Given the description of an element on the screen output the (x, y) to click on. 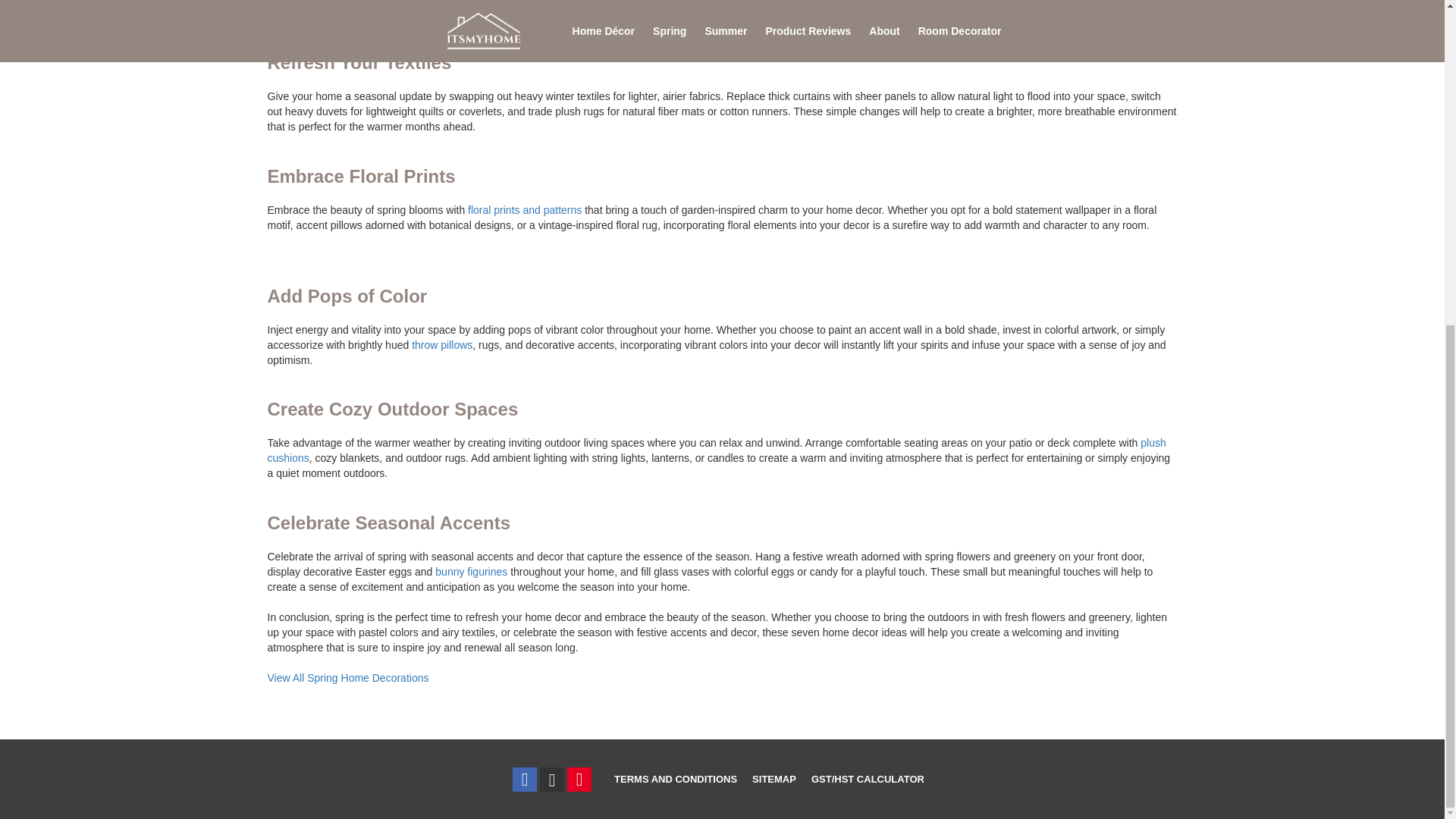
throw pillow covers (906, 2)
SITEMAP (773, 778)
TERMS AND CONDITIONS (675, 778)
bunny figurines (470, 571)
plush cushion (716, 450)
throw pillows (906, 2)
floral prints and patterns (523, 209)
throw pillow covers (441, 345)
plush cushions (716, 450)
decorative statues (470, 571)
throw pillows (441, 345)
floral prints (523, 209)
View All Spring Home Decorations (347, 677)
